Given the description of an element on the screen output the (x, y) to click on. 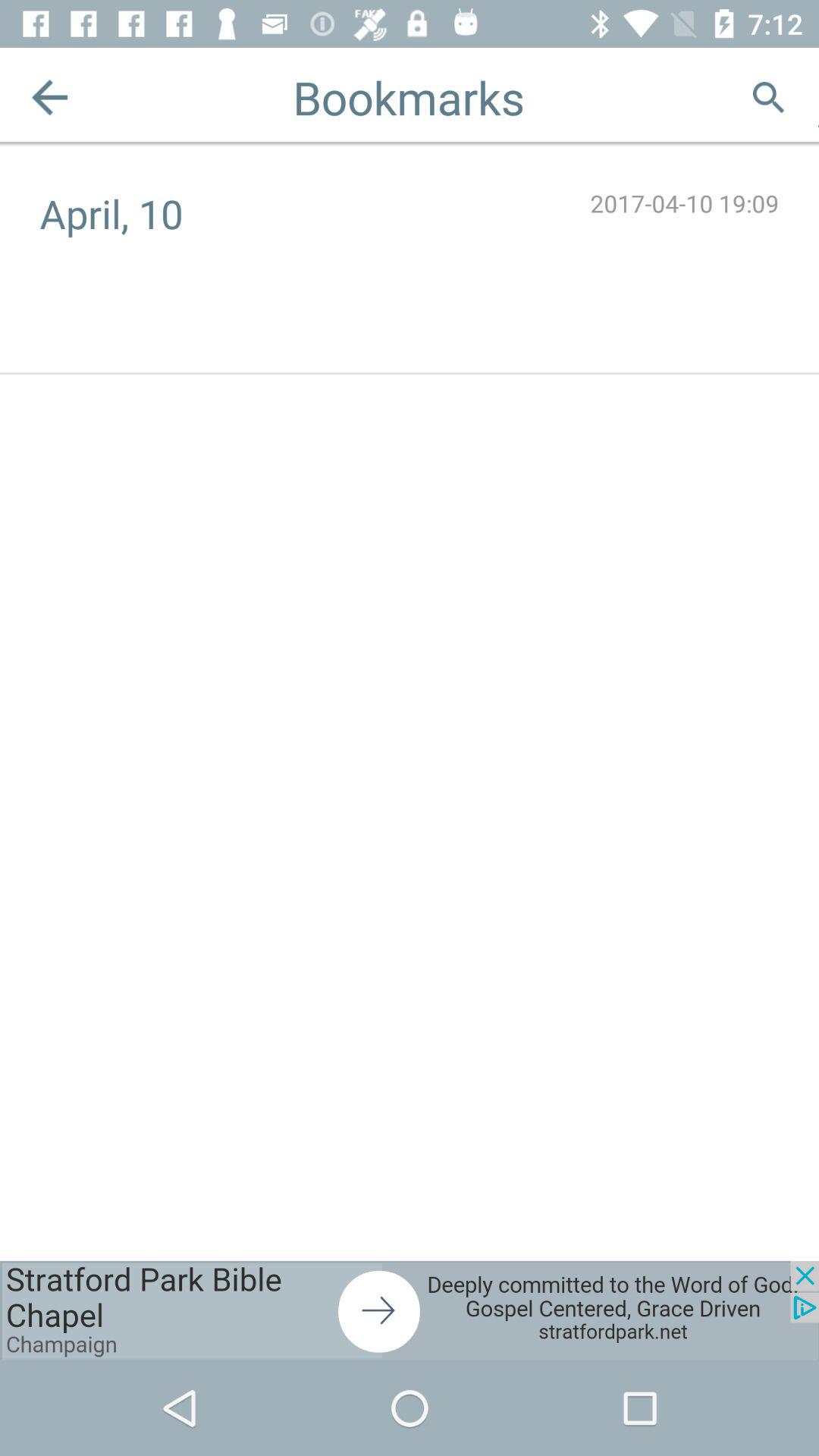
white pega (818, 97)
